Given the description of an element on the screen output the (x, y) to click on. 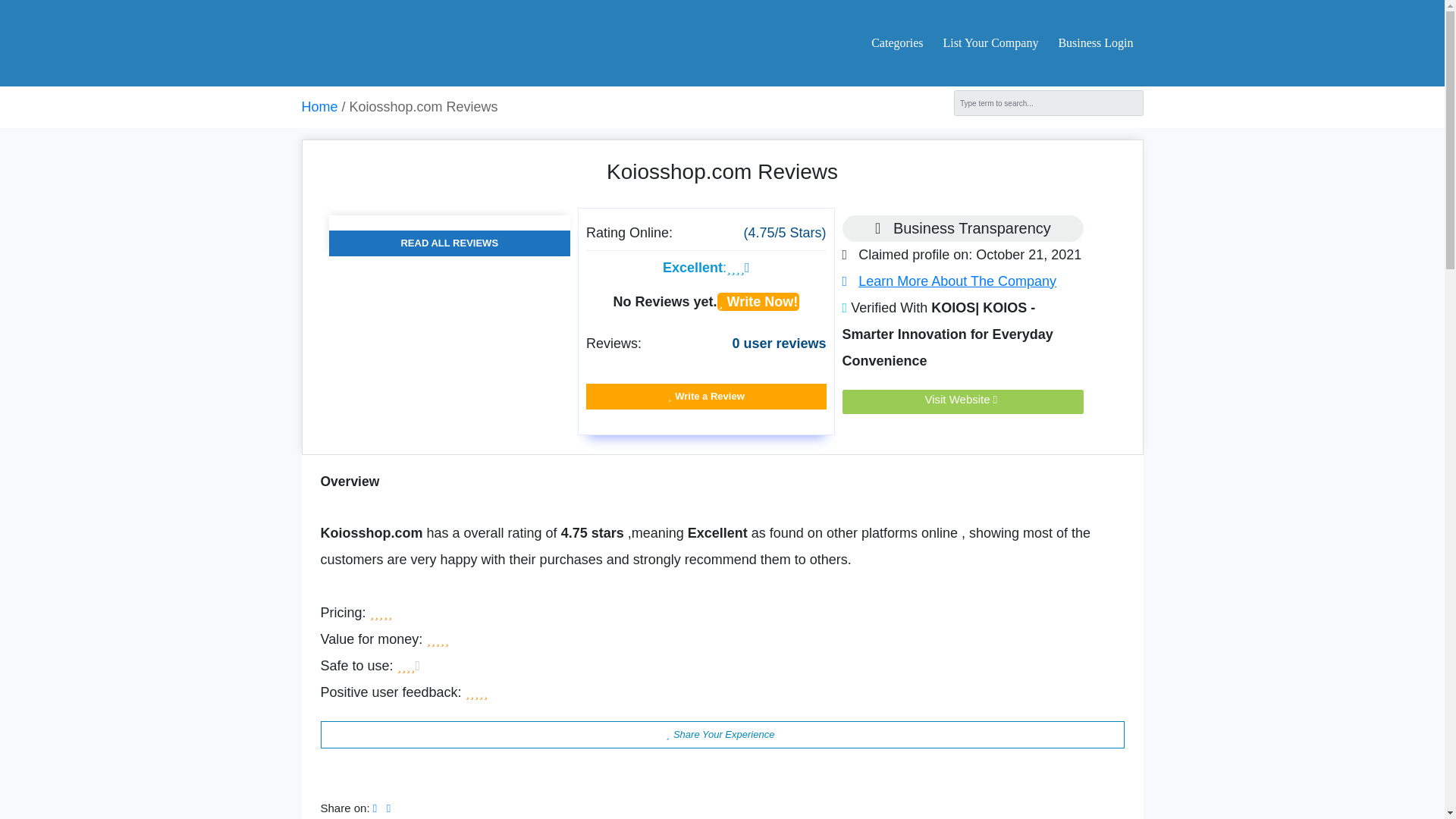
Categories (896, 42)
Business Login (1090, 42)
Home (319, 106)
Share Your Experience (722, 734)
Visit Website (962, 399)
List Your Company (991, 42)
READ ALL REVIEWS (449, 243)
  Learn More About The Company (950, 281)
Write a Review (706, 396)
Reviews: (614, 343)
